Given the description of an element on the screen output the (x, y) to click on. 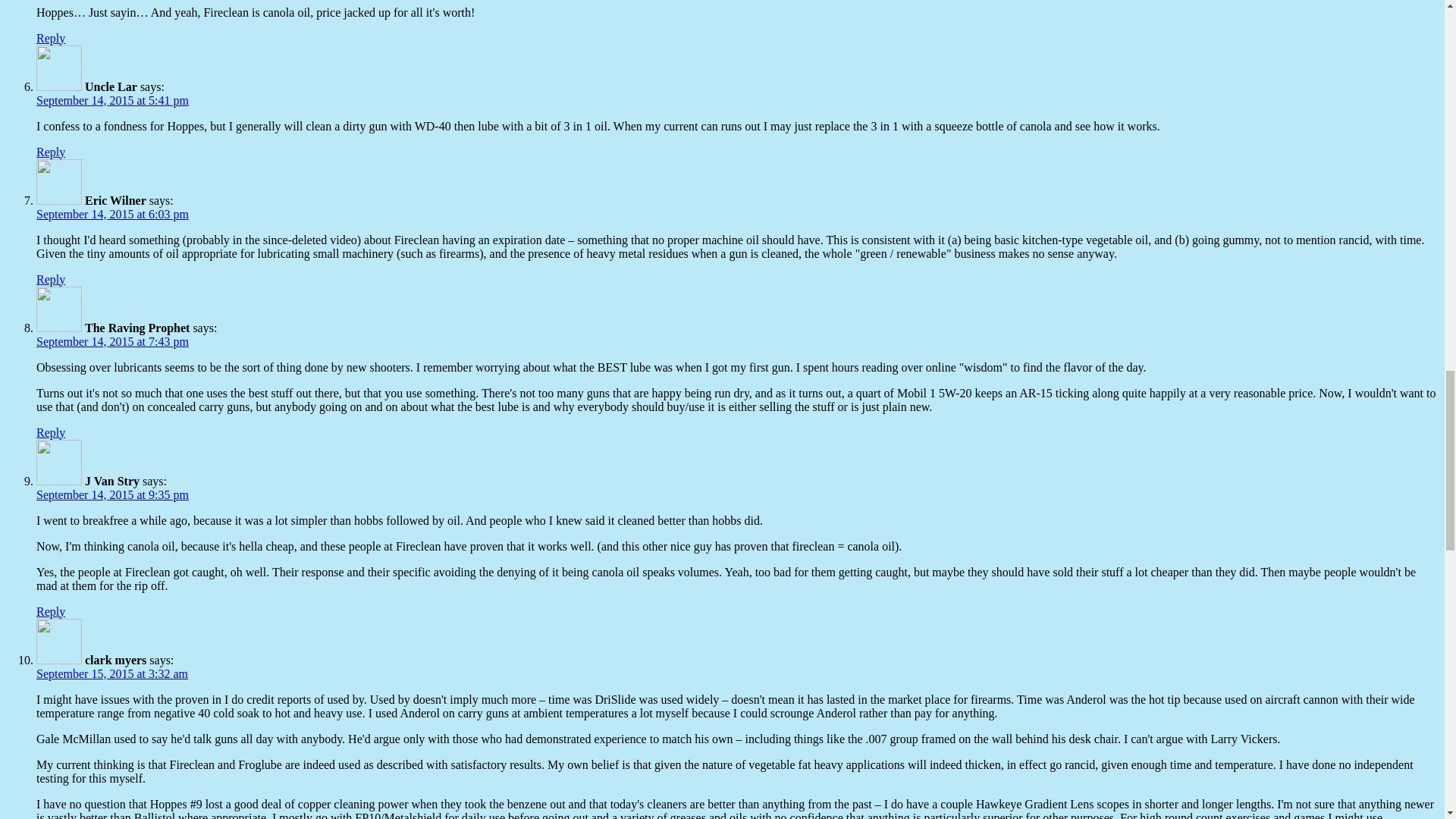
Reply (50, 431)
Reply (50, 278)
September 14, 2015 at 6:03 pm (112, 214)
Reply (50, 38)
September 14, 2015 at 5:41 pm (112, 100)
September 14, 2015 at 9:35 pm (112, 494)
September 14, 2015 at 7:43 pm (112, 341)
Reply (50, 151)
